Given the description of an element on the screen output the (x, y) to click on. 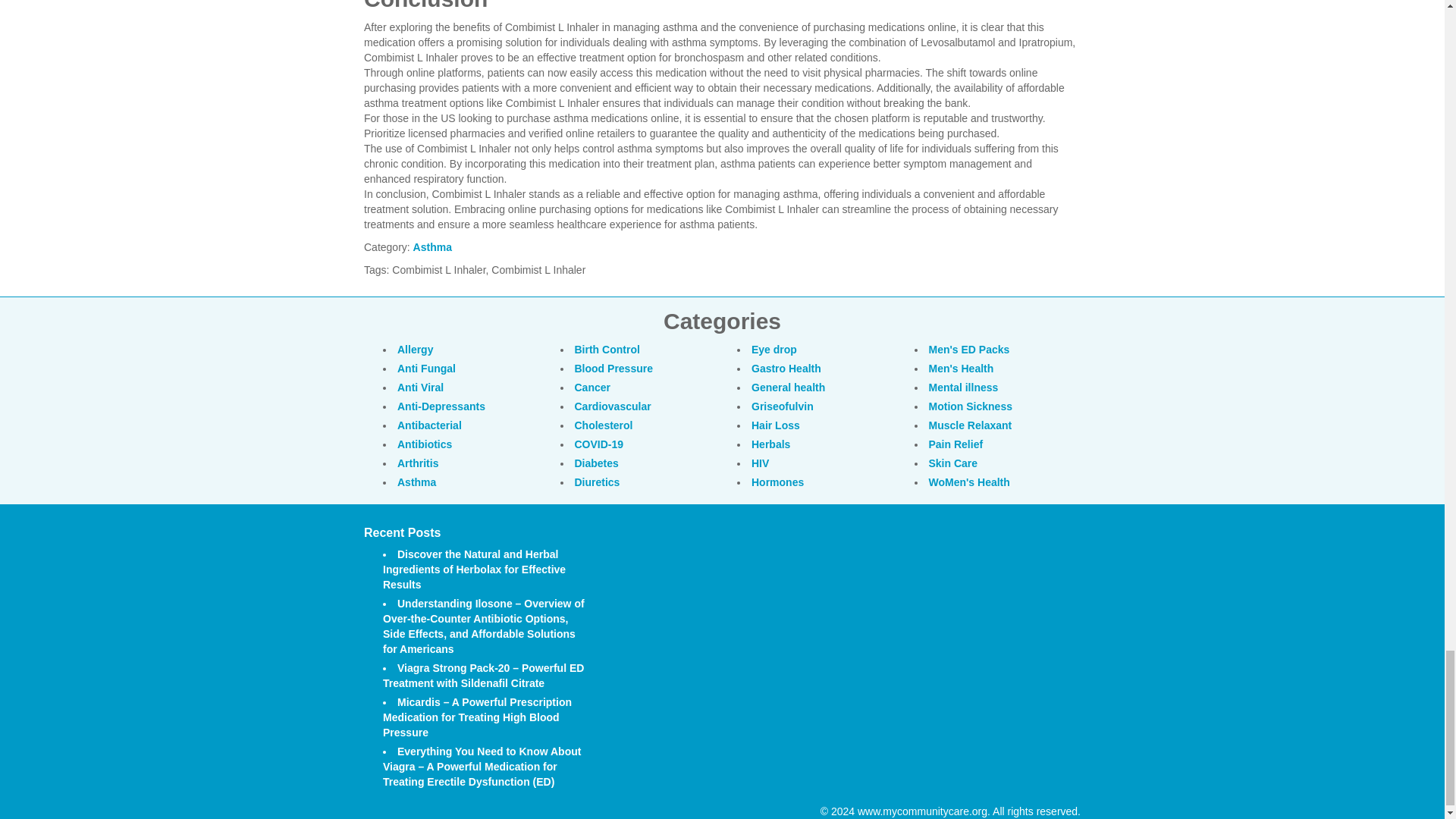
Blood Pressure (613, 368)
Asthma (432, 246)
Anti Viral (420, 387)
Cholesterol (604, 425)
Antibacterial (429, 425)
Anti Fungal (426, 368)
Diabetes (596, 463)
Arthritis (417, 463)
Birth Control (607, 349)
Asthma (416, 481)
Cancer (592, 387)
Antibiotics (424, 444)
Allergy (414, 349)
COVID-19 (599, 444)
Cardiovascular (612, 406)
